Given the description of an element on the screen output the (x, y) to click on. 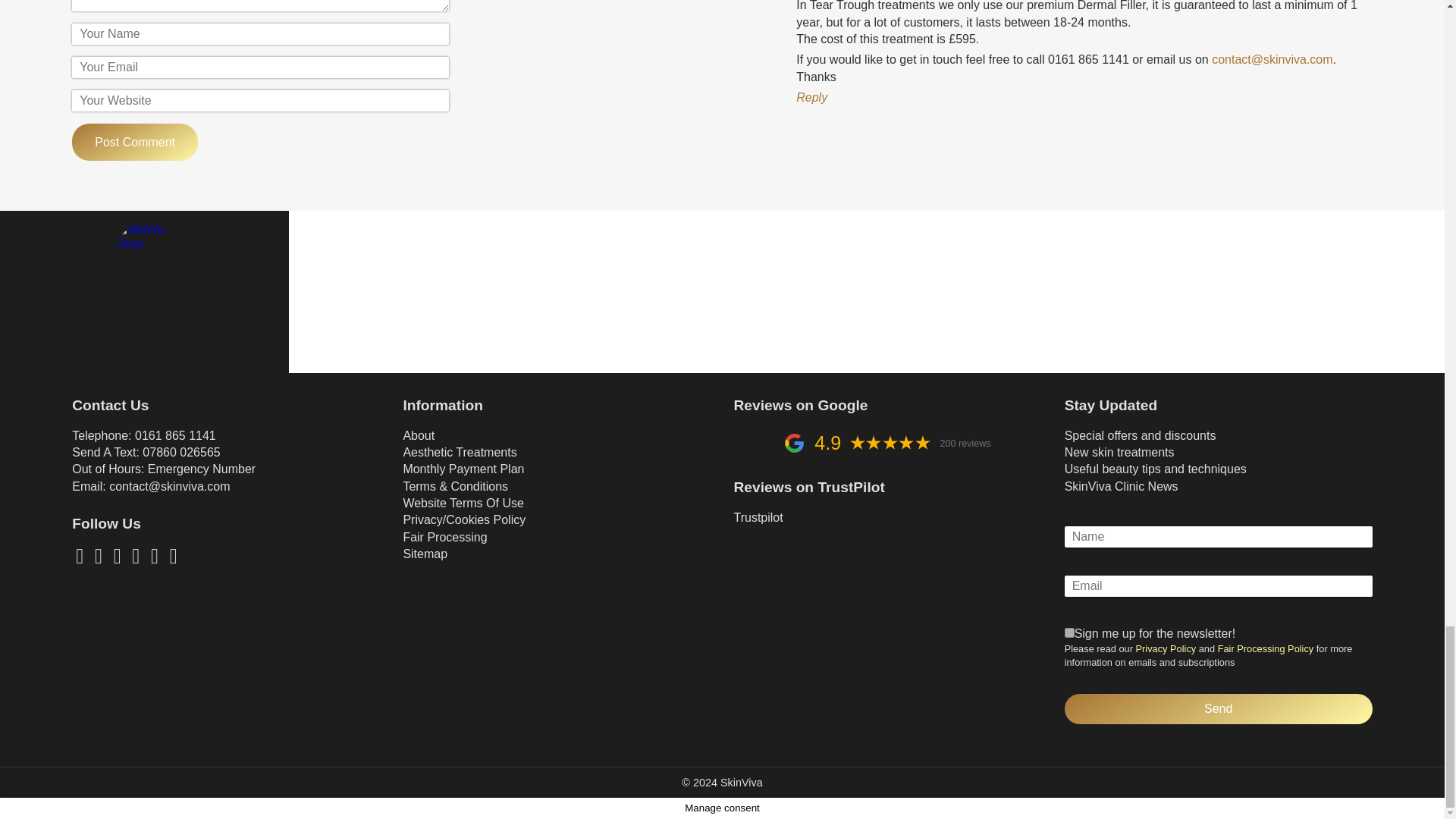
Post Comment (134, 141)
Powered by Google (793, 443)
Send (1218, 708)
1 (1069, 633)
